Given the description of an element on the screen output the (x, y) to click on. 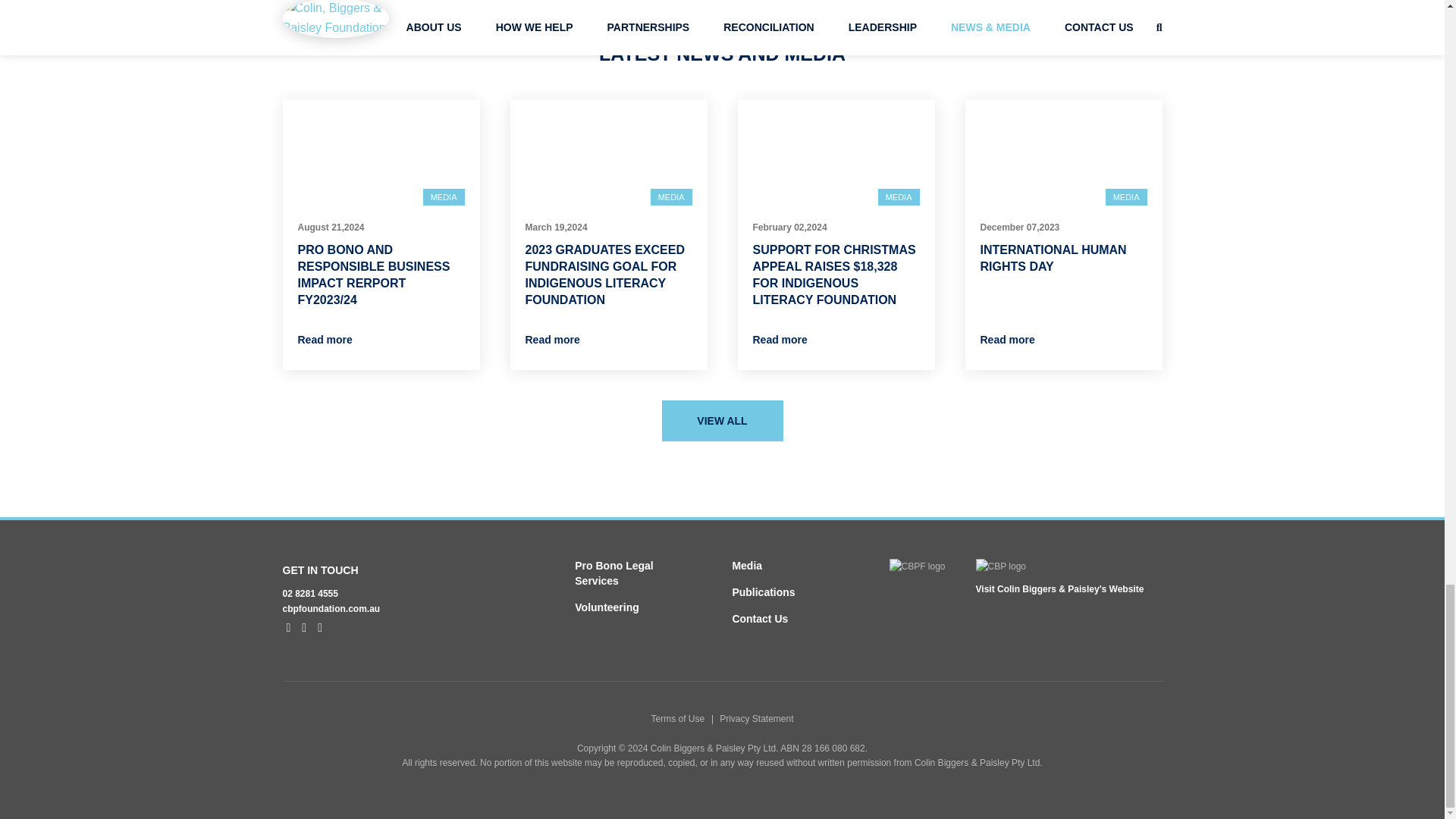
Read more (324, 339)
Read more (551, 339)
